Given the description of an element on the screen output the (x, y) to click on. 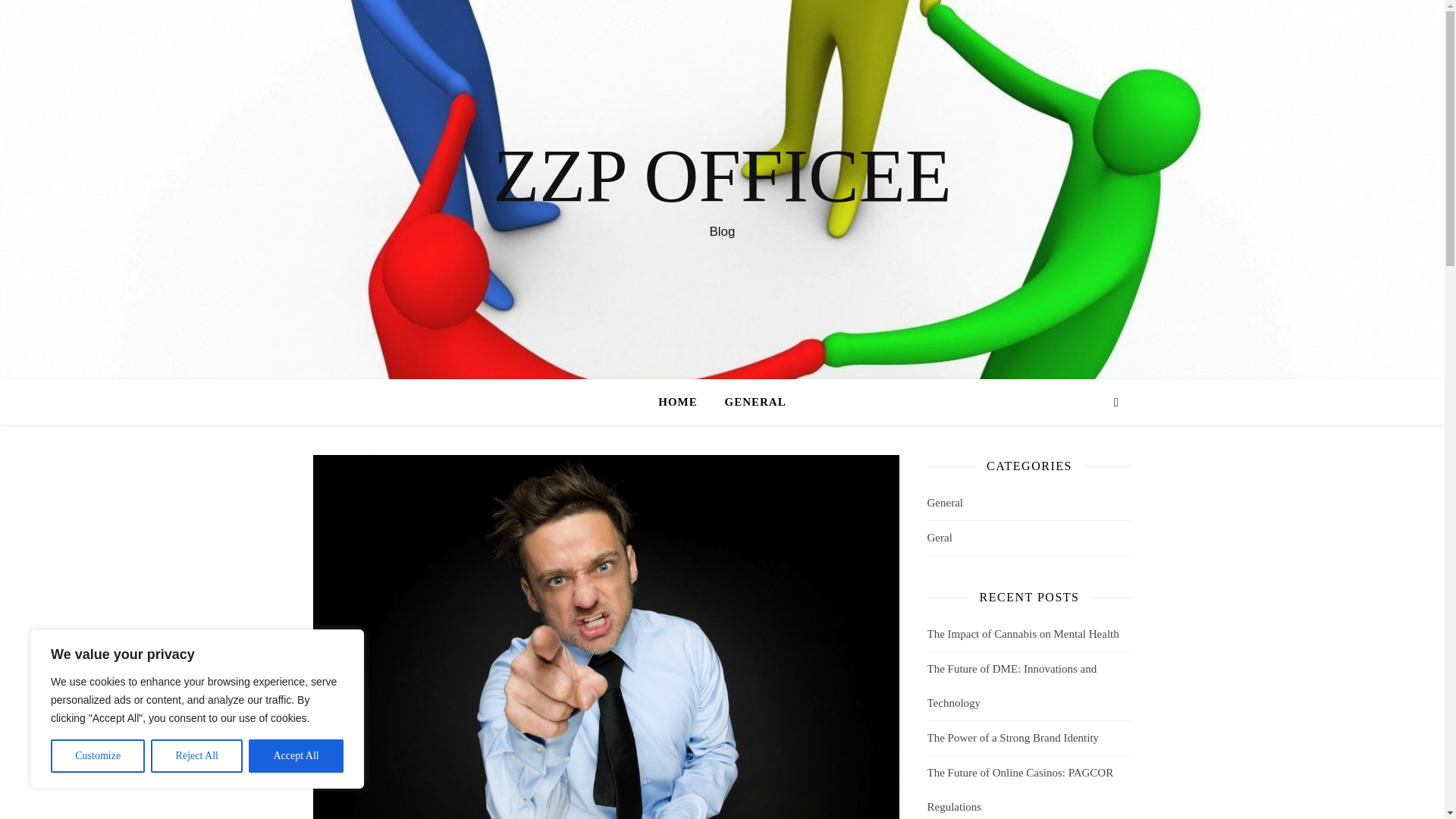
The Future of DME: Innovations and Technology (1011, 685)
Accept All (295, 756)
Customize (97, 756)
GENERAL (749, 402)
Reject All (197, 756)
The Impact of Cannabis on Mental Health (1022, 633)
General (944, 503)
HOME (684, 402)
